Given the description of an element on the screen output the (x, y) to click on. 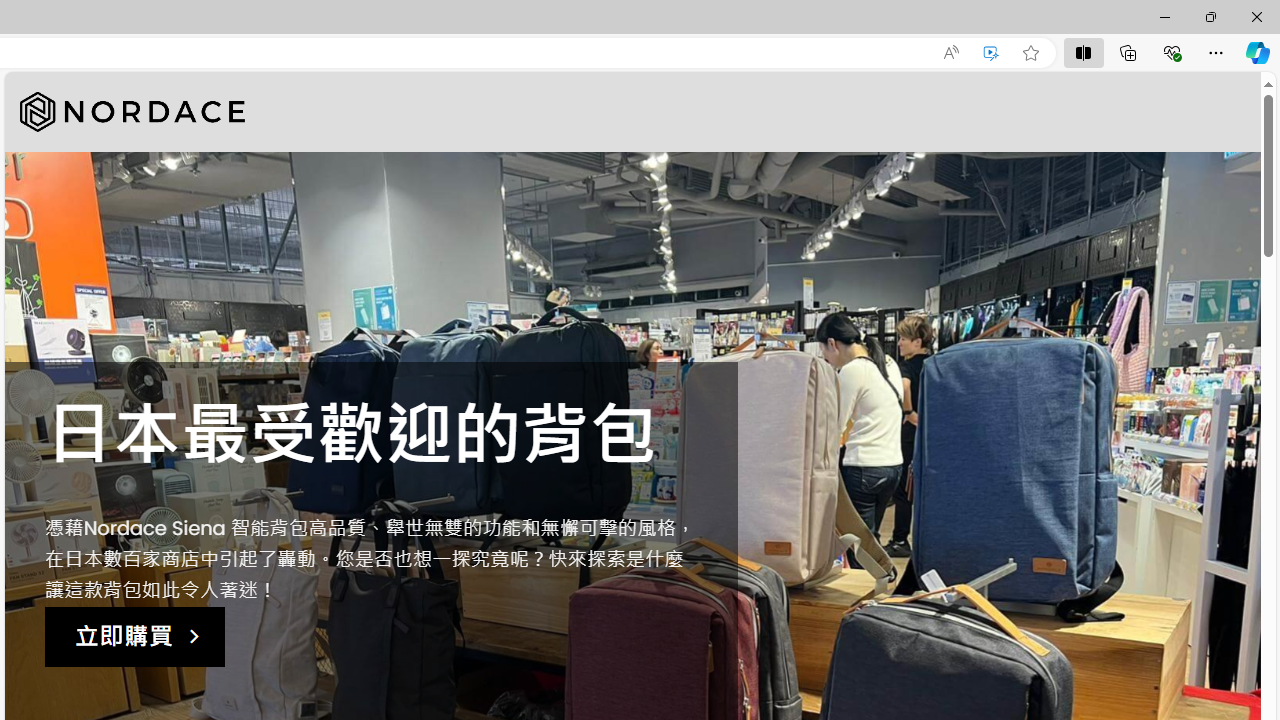
Minimize (1164, 16)
Nordace (132, 111)
Split screen (1083, 52)
Settings and more (Alt+F) (1215, 52)
Add this page to favorites (Ctrl+D) (1030, 53)
Enhance video (991, 53)
Copilot (Ctrl+Shift+.) (1258, 52)
Restore (1210, 16)
Close (1256, 16)
Read aloud this page (Ctrl+Shift+U) (950, 53)
Browser essentials (1171, 52)
Collections (1128, 52)
